Given the description of an element on the screen output the (x, y) to click on. 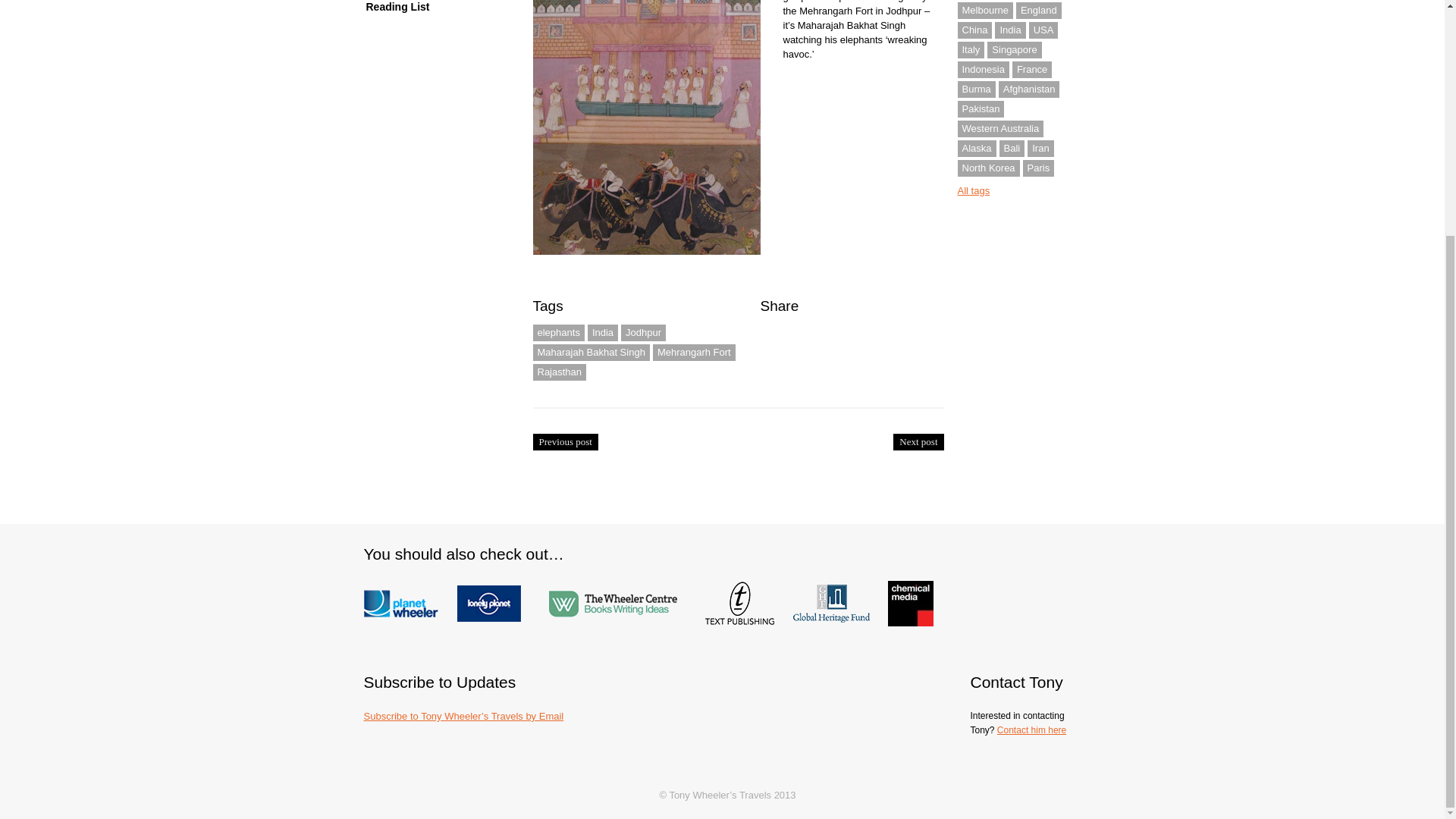
Previous post (564, 442)
Planet Wheeler (409, 587)
India (1009, 30)
China (973, 30)
Singapore (1014, 49)
Jodhpur (643, 332)
Global Heritage Fund (839, 587)
Maharajah Bakhat Singh (590, 352)
USA (1043, 30)
Rajasthan (559, 371)
Afghanistan (1028, 89)
elephants (557, 332)
elephant havoc (649, 131)
Lonely Planet (496, 587)
All Tags (973, 190)
